Given the description of an element on the screen output the (x, y) to click on. 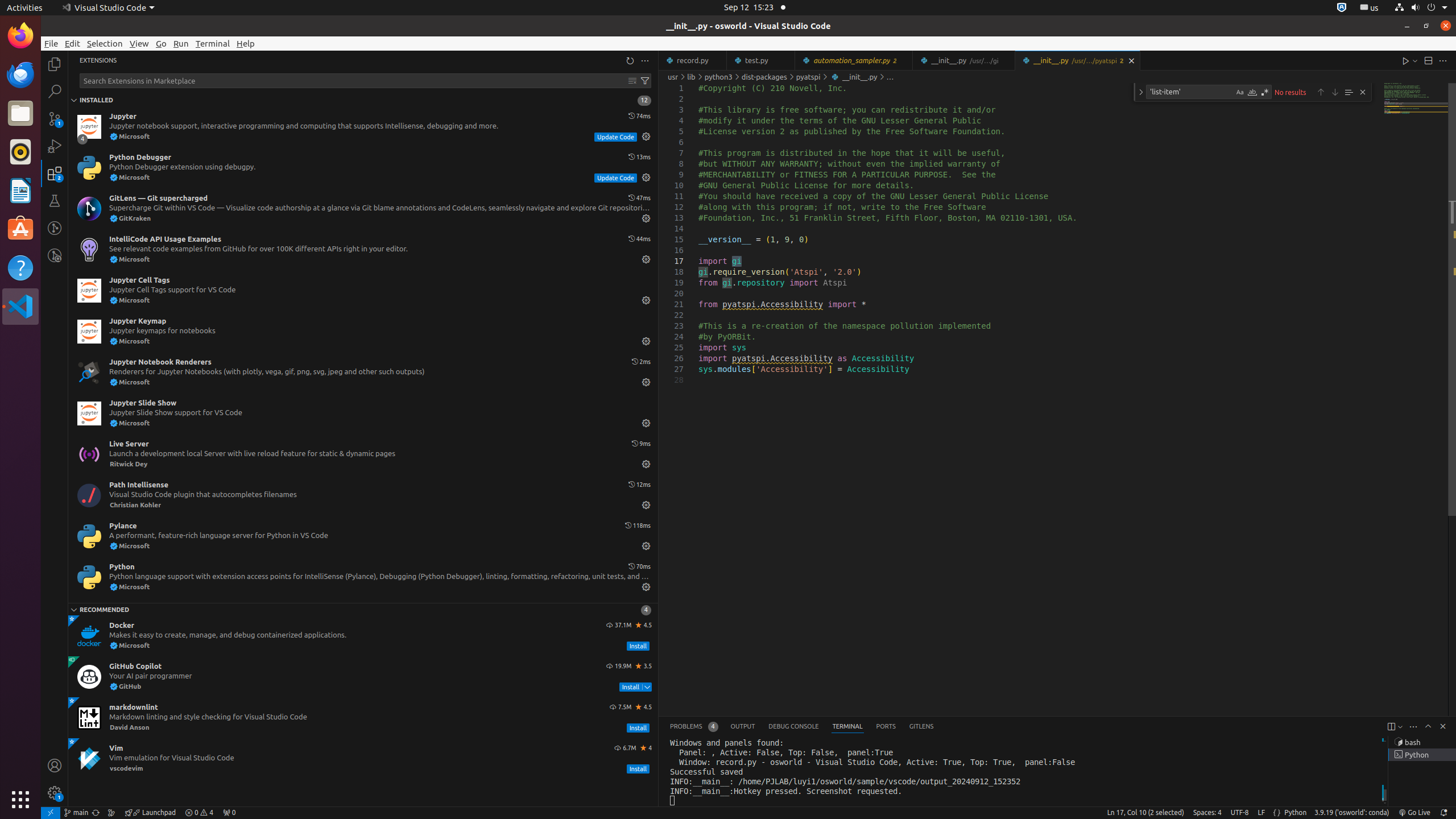
Hide Panel Element type: push-button (1442, 726)
Active View Switcher Element type: page-tab-list (801, 726)
remote Element type: push-button (50, 812)
automation_sampler.py, preview Element type: page-tab (854, 60)
Python, 2024.14.0, Verified Publisher Microsoft, Python language support with extension access points for IntelliSense (Pylance), Debugging (Python Debugger), linting, formatting, refactoring, unit tests, and more. , Rated 4.21 out of 5 stars by 597 users Element type: list-item (363, 576)
